Given the description of an element on the screen output the (x, y) to click on. 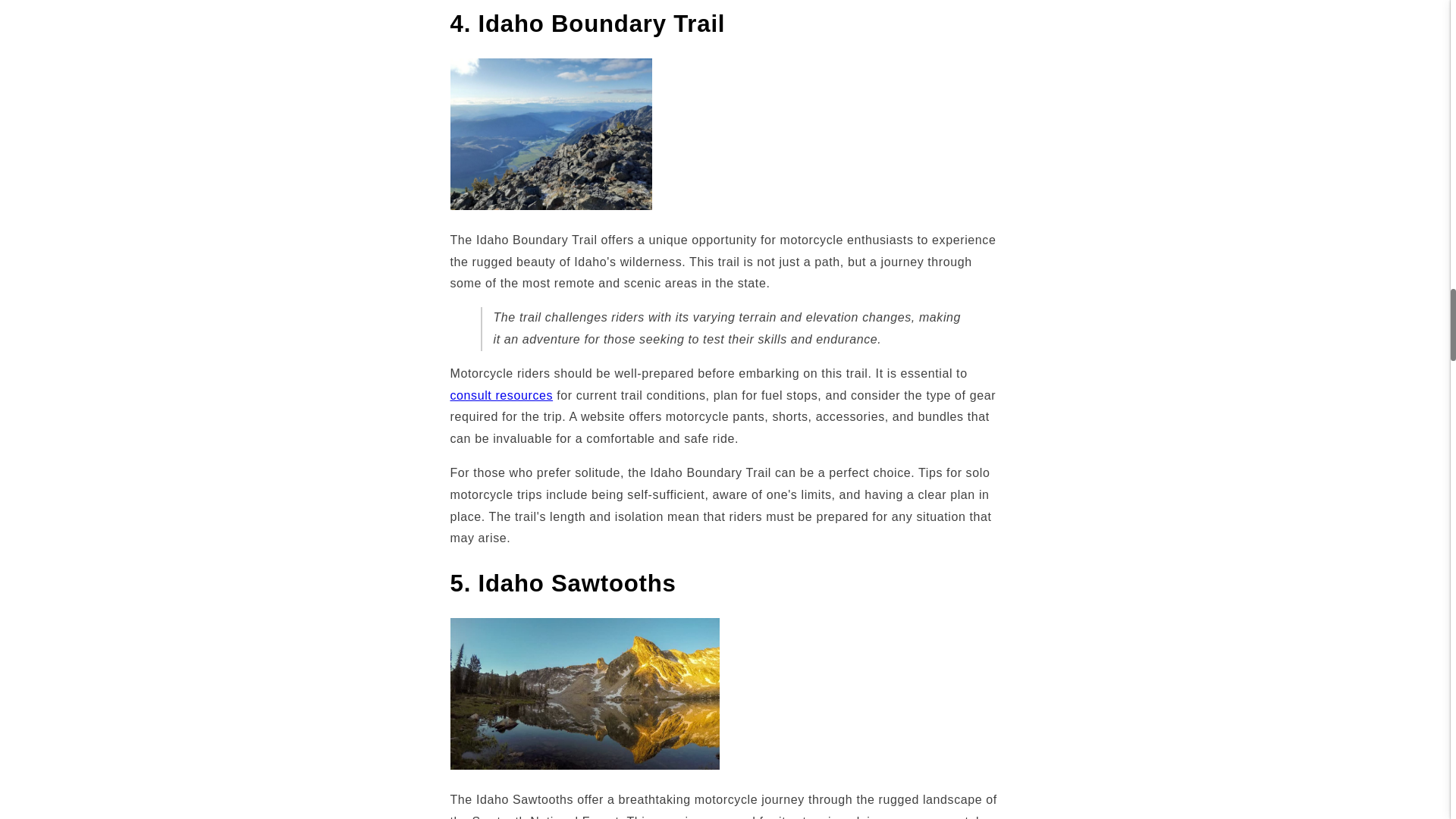
Experience the Winx Wheels difference. (501, 395)
